Given the description of an element on the screen output the (x, y) to click on. 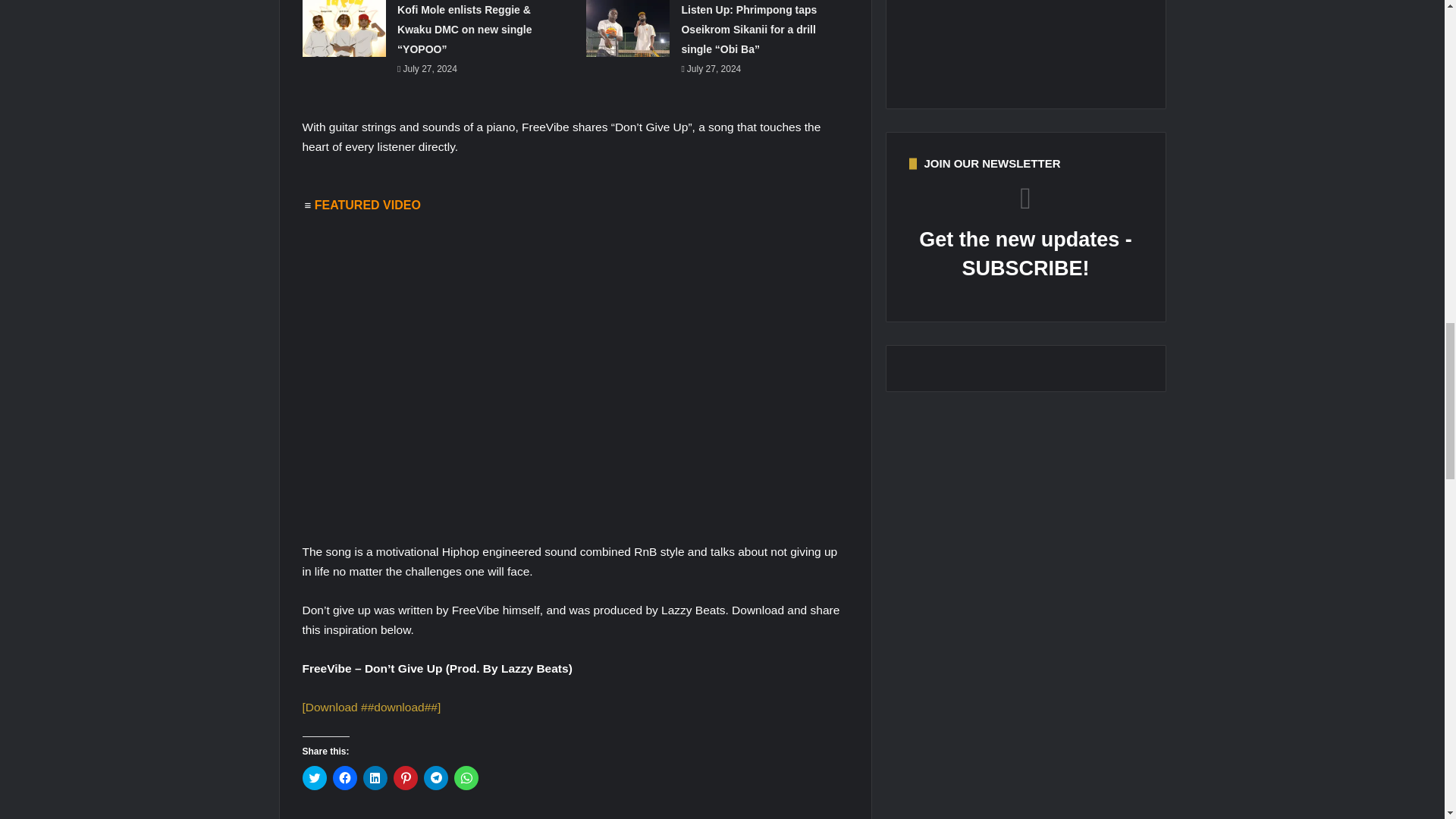
Click to share on Facebook (343, 777)
Click to share on Twitter (313, 777)
Click to share on LinkedIn (374, 777)
